Given the description of an element on the screen output the (x, y) to click on. 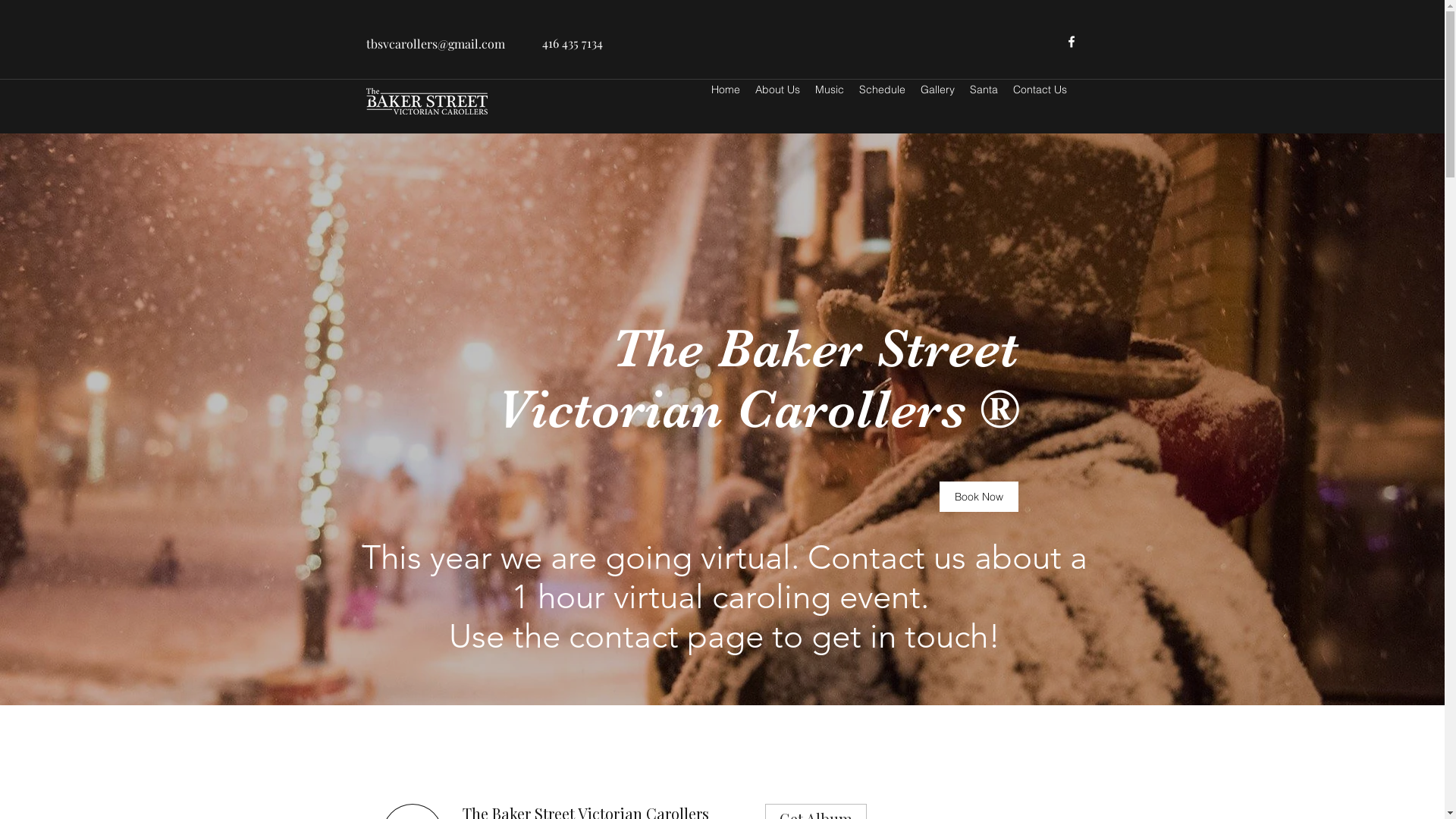
Contact Us Element type: text (1039, 89)
Santa Element type: text (982, 89)
Home Element type: text (725, 89)
TWIPLA (Visitor Analytics) Element type: hover (180, 258)
Schedule Element type: text (881, 89)
tbsvcarollers@gmail.com Element type: text (434, 43)
About Us Element type: text (777, 89)
Book Now Element type: text (977, 496)
Gallery Element type: text (937, 89)
Music Element type: text (828, 89)
